Given the description of an element on the screen output the (x, y) to click on. 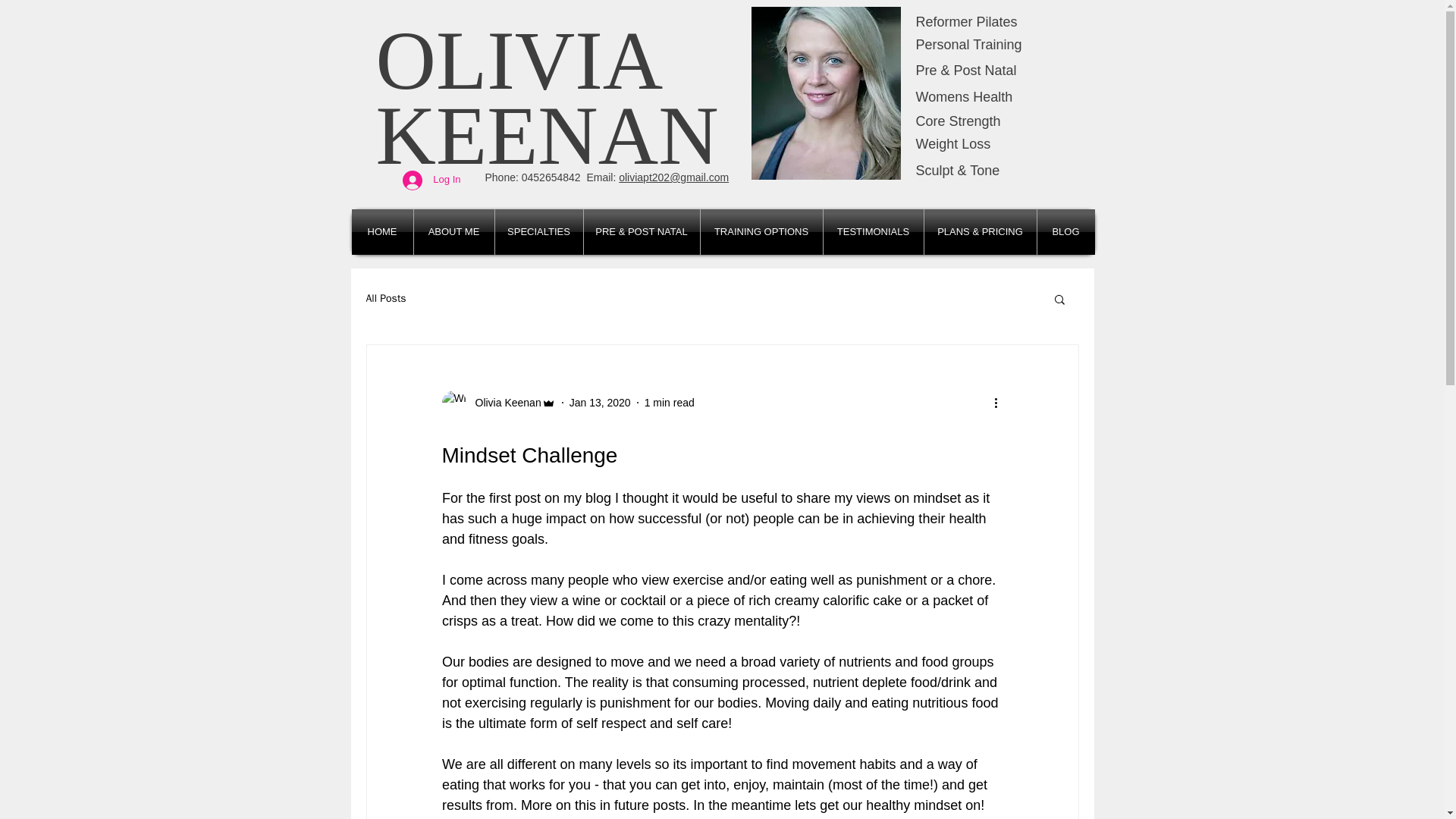
1 min read (669, 401)
Olivia Keenan (502, 401)
All Posts (385, 298)
Olivia Keenan (497, 402)
ABOUT ME (454, 231)
TRAINING OPTIONS (761, 231)
TESTIMONIALS (873, 231)
BLOG (1065, 231)
HOME (382, 231)
Jan 13, 2020 (599, 401)
Log In (430, 179)
SPECIALTIES (538, 231)
